Given the description of an element on the screen output the (x, y) to click on. 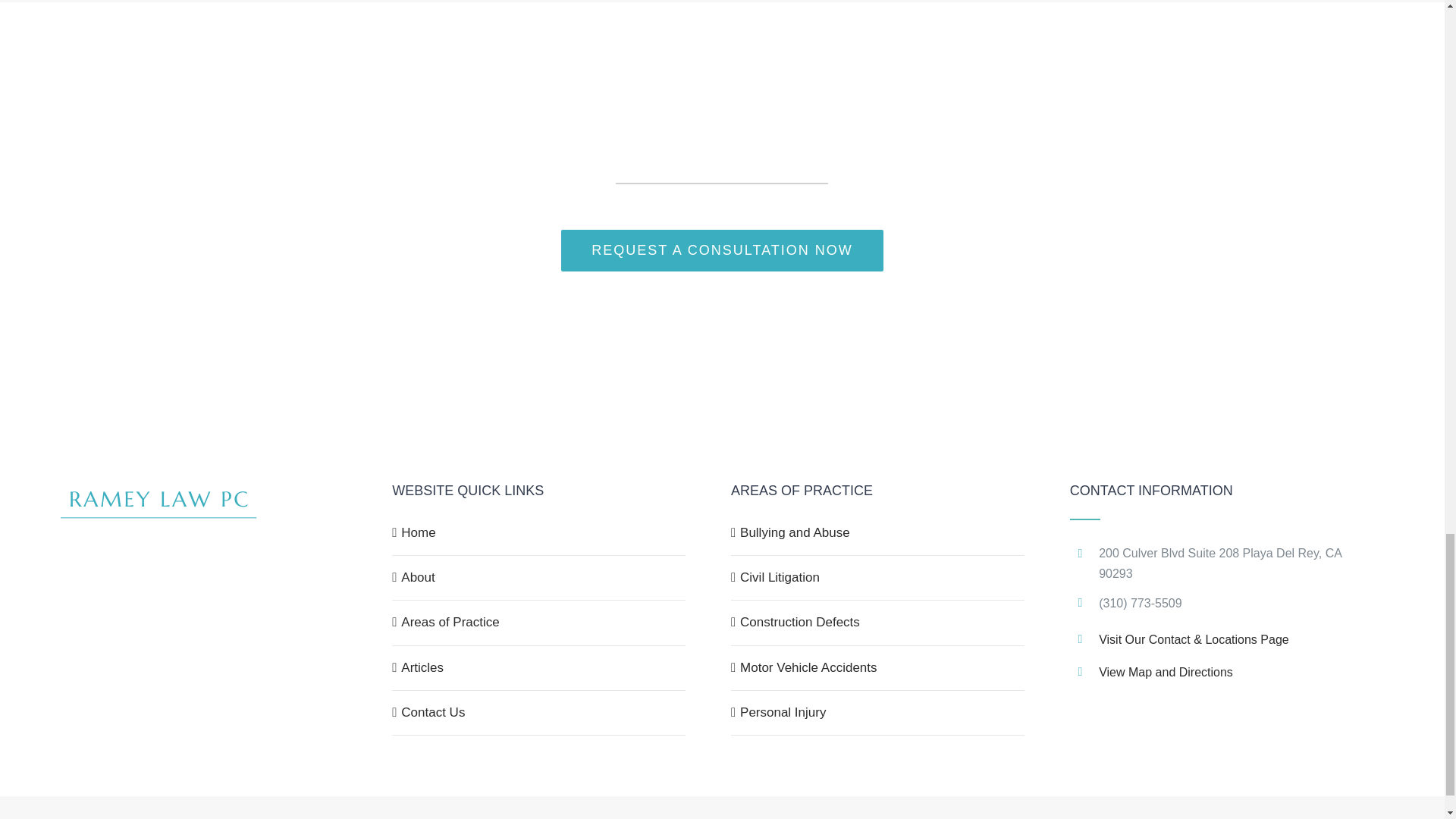
REQUEST A CONSULTATION NOW (721, 250)
About (539, 577)
Home (539, 532)
Areas of Practice (539, 622)
